Given the description of an element on the screen output the (x, y) to click on. 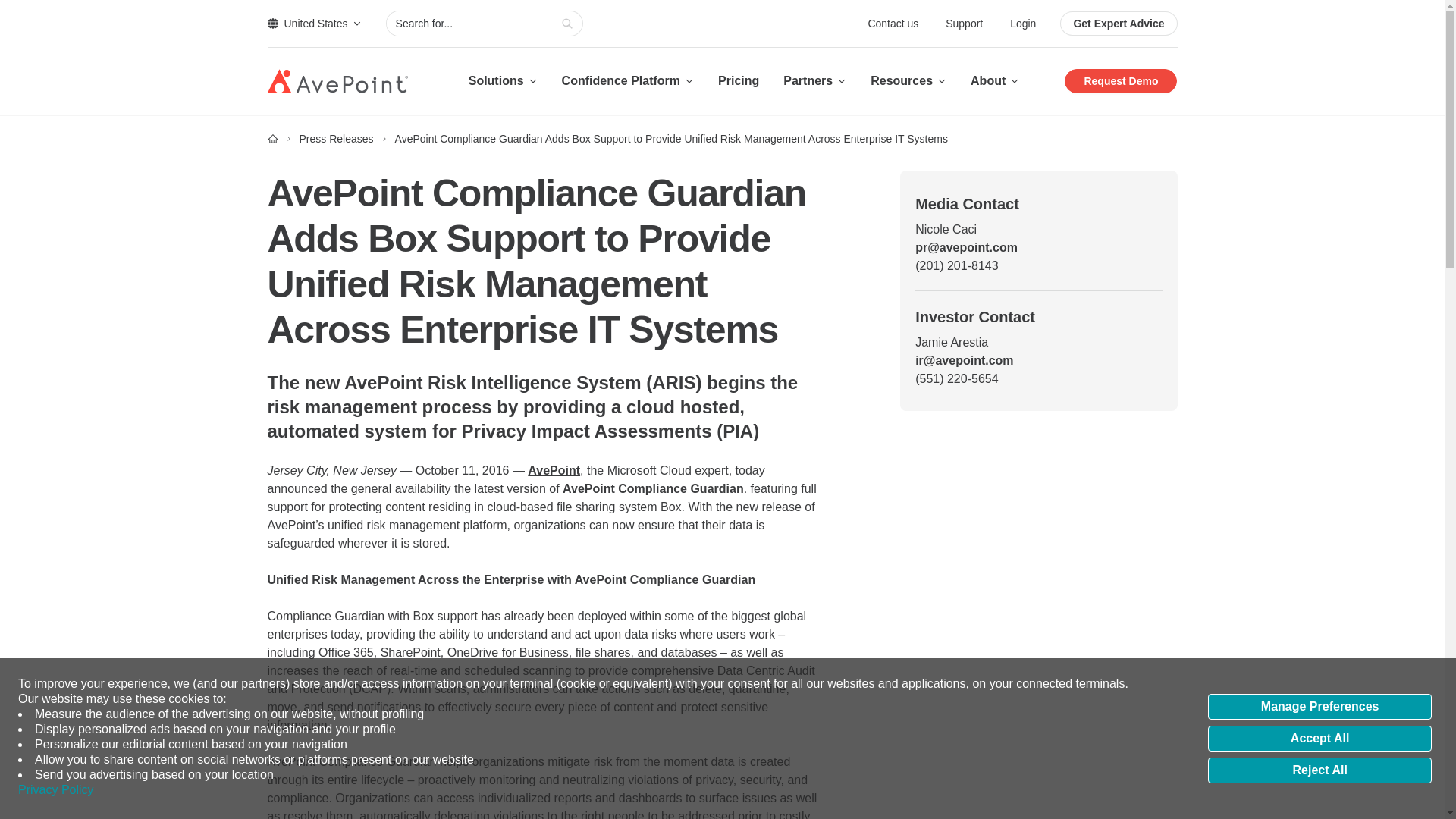
Login (1022, 23)
Manage Preferences (1319, 706)
Confidence Platform (628, 80)
Contact us (894, 23)
Solutions (502, 80)
Search (566, 23)
Privacy Policy (55, 789)
Get Expert Advice (1117, 23)
United States (313, 23)
Accept All (1319, 738)
Support (964, 23)
Reject All (1319, 769)
